Given the description of an element on the screen output the (x, y) to click on. 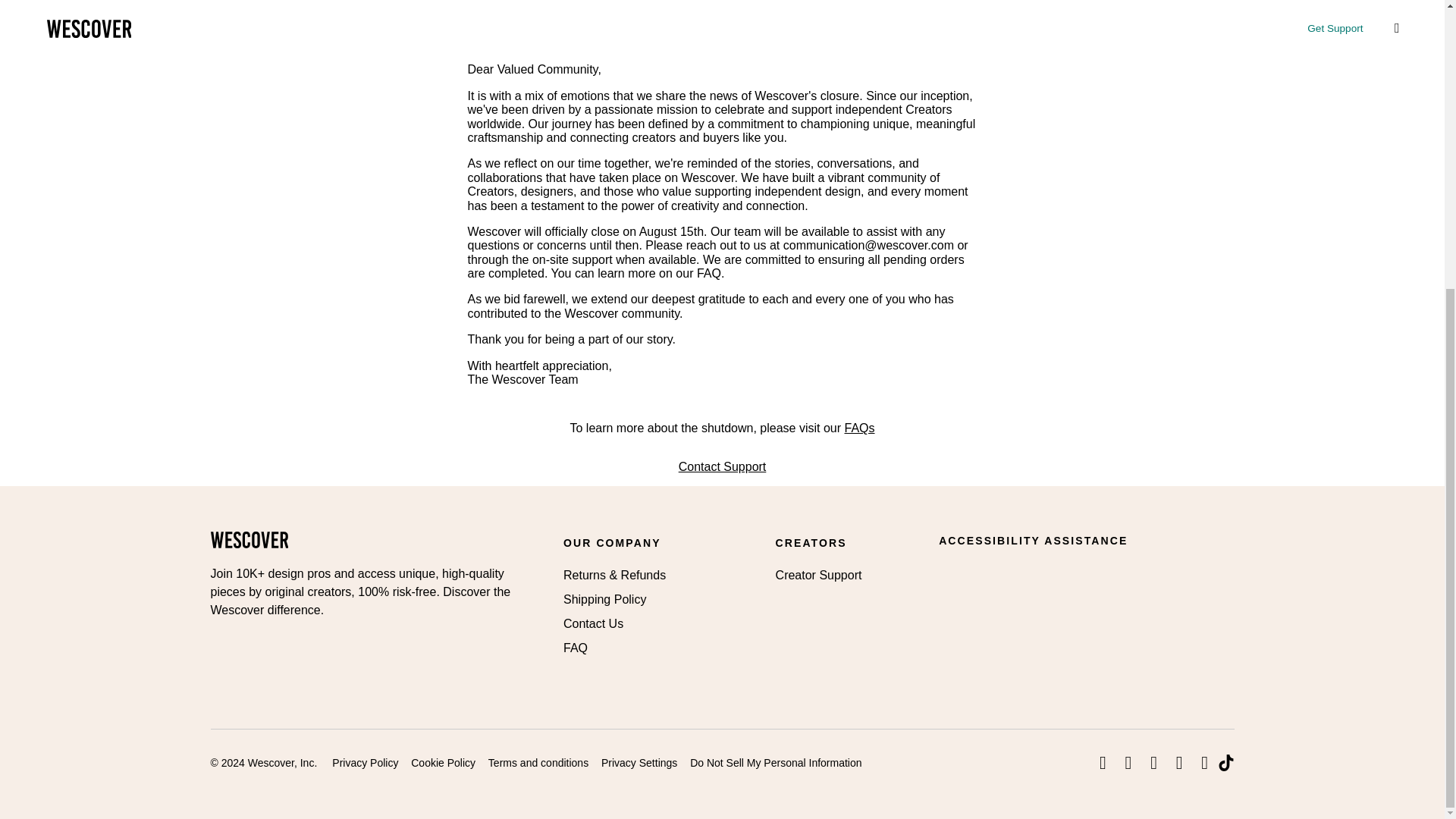
FAQ (575, 647)
Do Not Sell My Personal Information (775, 762)
Shipping Policy (604, 599)
Contact Support (722, 466)
Privacy settings (639, 762)
Cookie Policy  (443, 762)
FAQs (859, 427)
Privacy Policy  (364, 762)
Do Not Sell My Personal Information (775, 762)
Contact Us (593, 623)
